Given the description of an element on the screen output the (x, y) to click on. 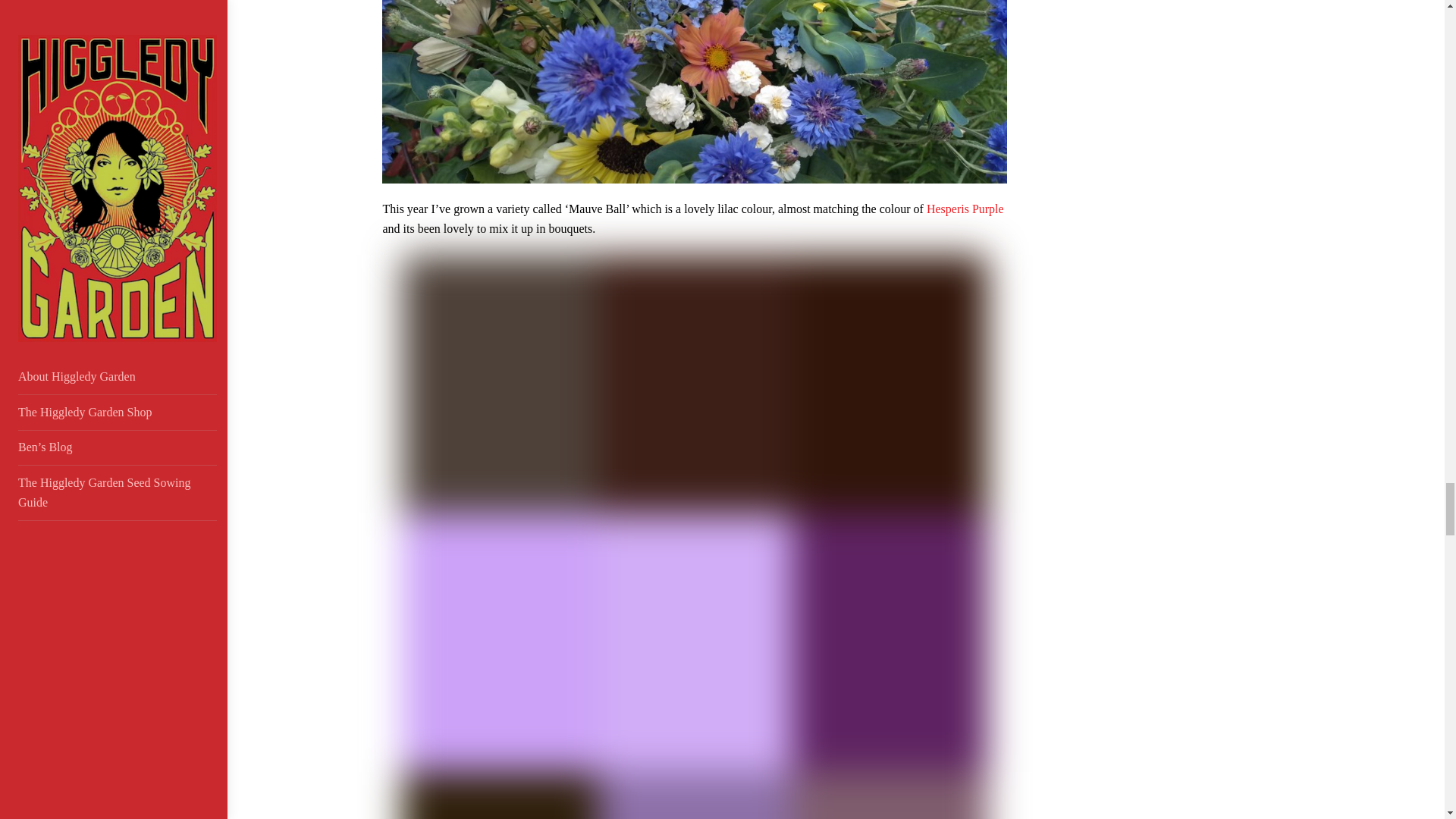
Hesperis Purple (965, 208)
